Given the description of an element on the screen output the (x, y) to click on. 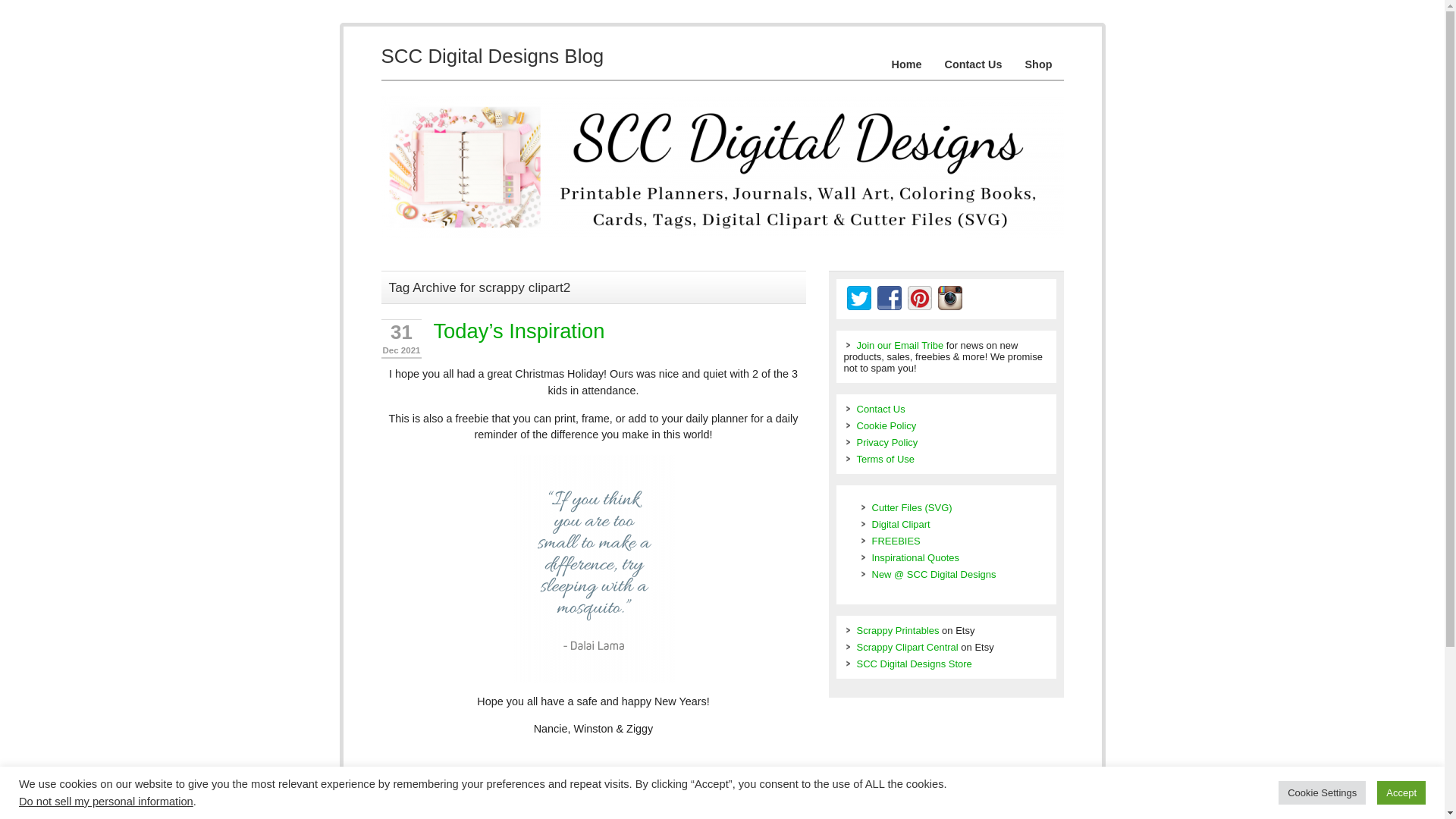
31 (401, 332)
SCC Digital Designs Store (914, 663)
Digital Clipart (901, 523)
Cookie Settings (1321, 792)
Shop (1038, 64)
Do not sell my personal information (105, 801)
Home (906, 64)
Join our Email Tribe (900, 345)
Inspirational Quotes (915, 557)
Privacy Policy (887, 441)
Scrappy Clipart Central (907, 646)
Cookie Policy (887, 425)
FREEBIES (896, 541)
Contact Us (973, 64)
Accept (1401, 792)
